Given the description of an element on the screen output the (x, y) to click on. 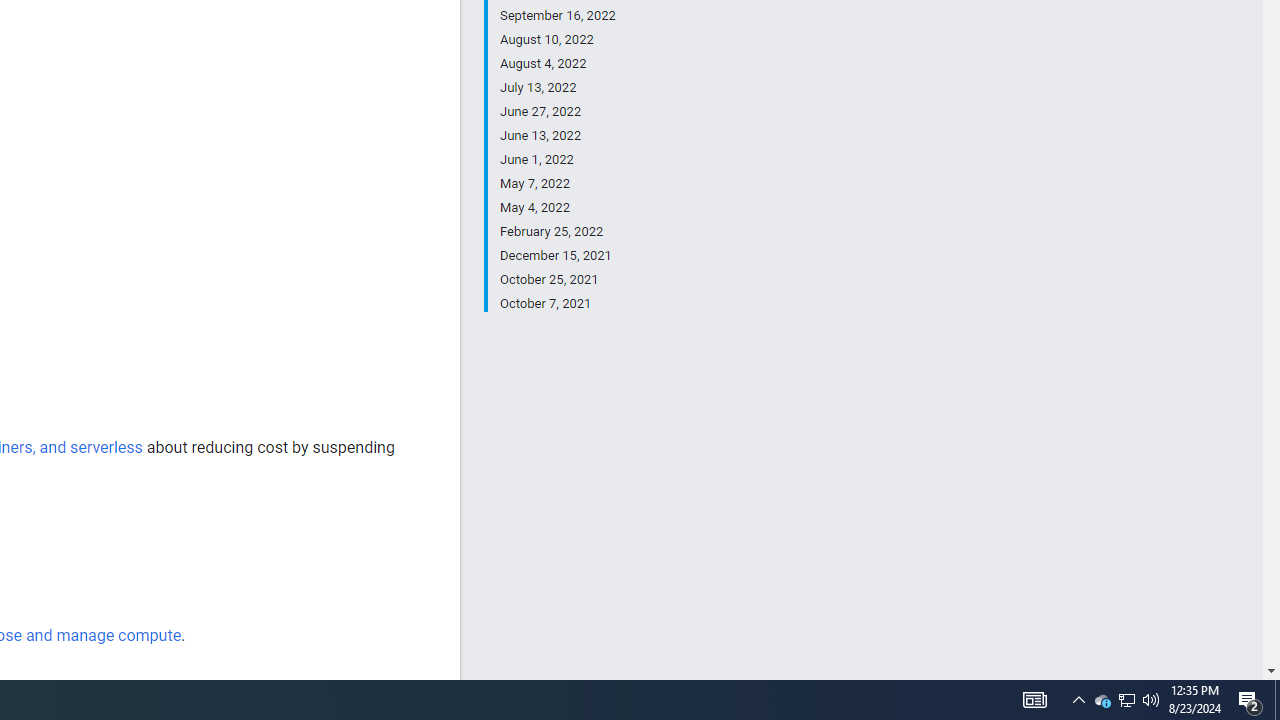
June 1, 2022 (557, 160)
February 25, 2022 (557, 232)
December 15, 2021 (557, 255)
October 7, 2021 (557, 301)
May 4, 2022 (557, 207)
June 13, 2022 (557, 135)
October 25, 2021 (557, 279)
May 7, 2022 (557, 183)
September 16, 2022 (557, 16)
June 27, 2022 (557, 111)
July 13, 2022 (557, 88)
August 4, 2022 (557, 63)
August 10, 2022 (557, 39)
